Given the description of an element on the screen output the (x, y) to click on. 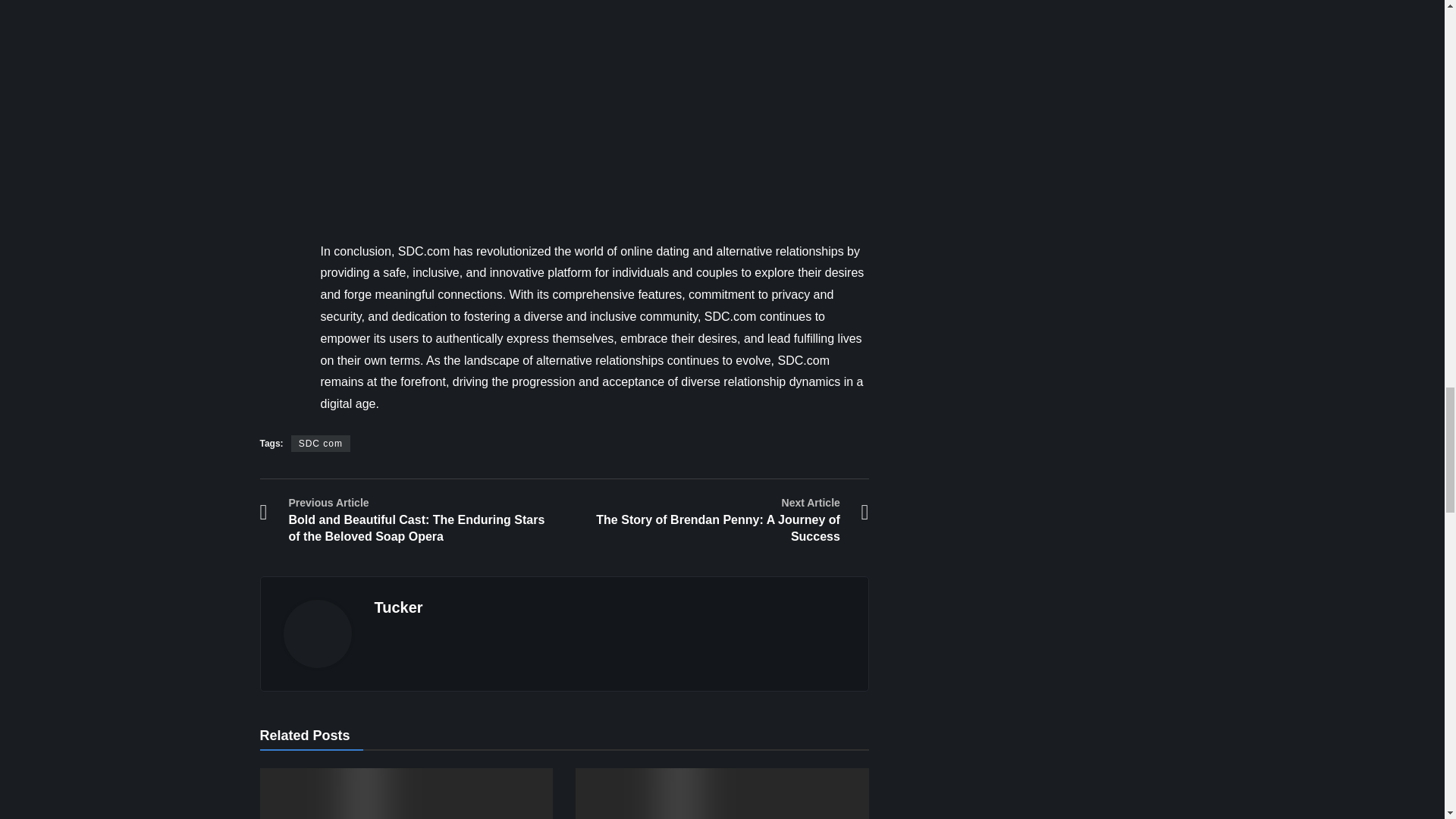
Tucker (398, 606)
Viral Magic: The Rise of the Baby Alien Fan Bus Video (722, 793)
SDC com (320, 443)
